Given the description of an element on the screen output the (x, y) to click on. 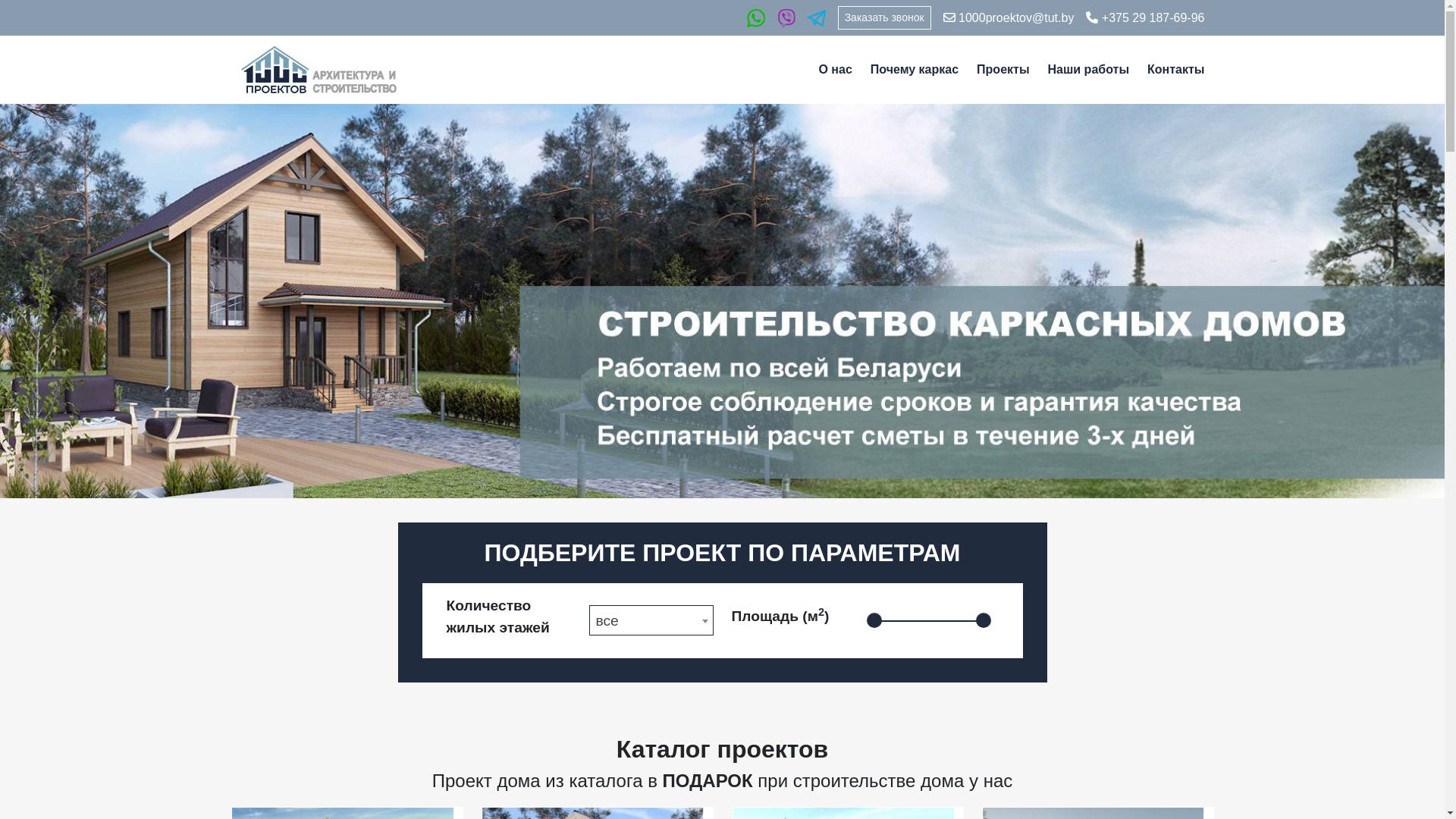
+375 29 187-69-96 Element type: text (1144, 18)
1000proektov@tut.by Element type: text (1008, 18)
